Given the description of an element on the screen output the (x, y) to click on. 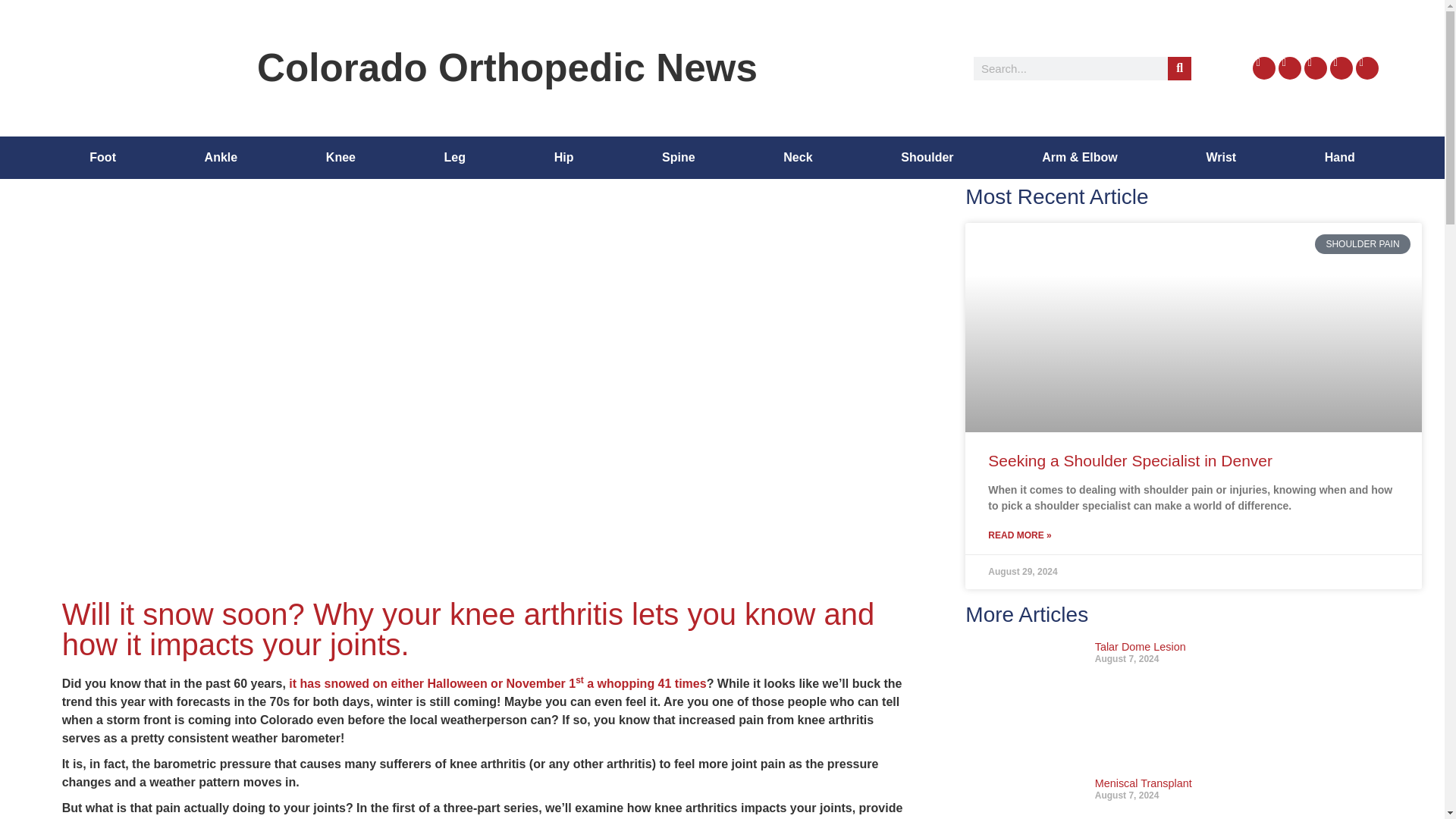
Wrist (1220, 157)
Hip (563, 157)
Hand (1339, 157)
Neck (798, 157)
Foot (102, 157)
Ankle (220, 157)
Knee (341, 157)
Leg (453, 157)
Shoulder (927, 157)
Spine (678, 157)
